Given the description of an element on the screen output the (x, y) to click on. 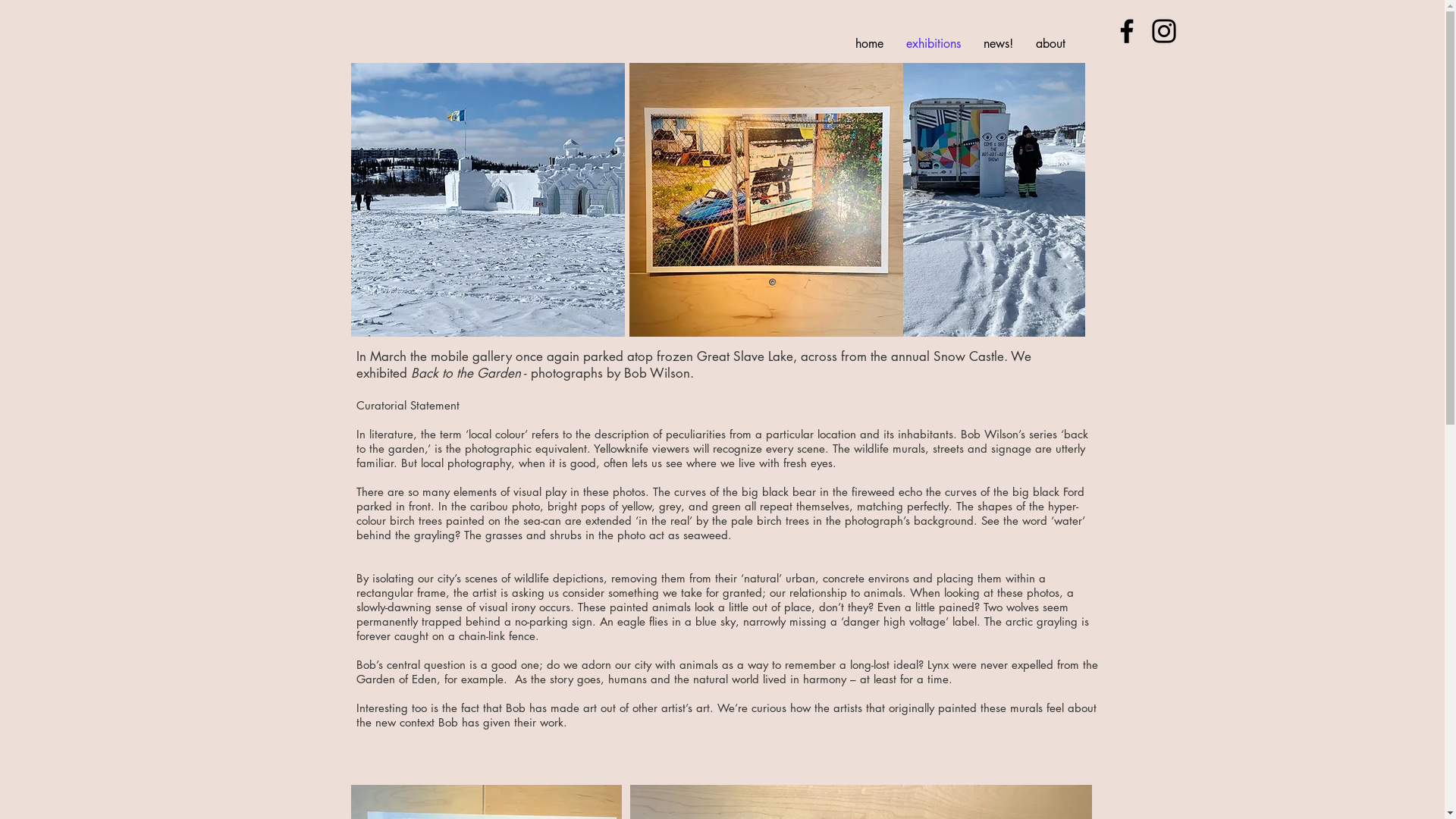
news! Element type: text (998, 43)
exhibitions Element type: text (933, 43)
about Element type: text (1049, 43)
home Element type: text (868, 43)
